Given the description of an element on the screen output the (x, y) to click on. 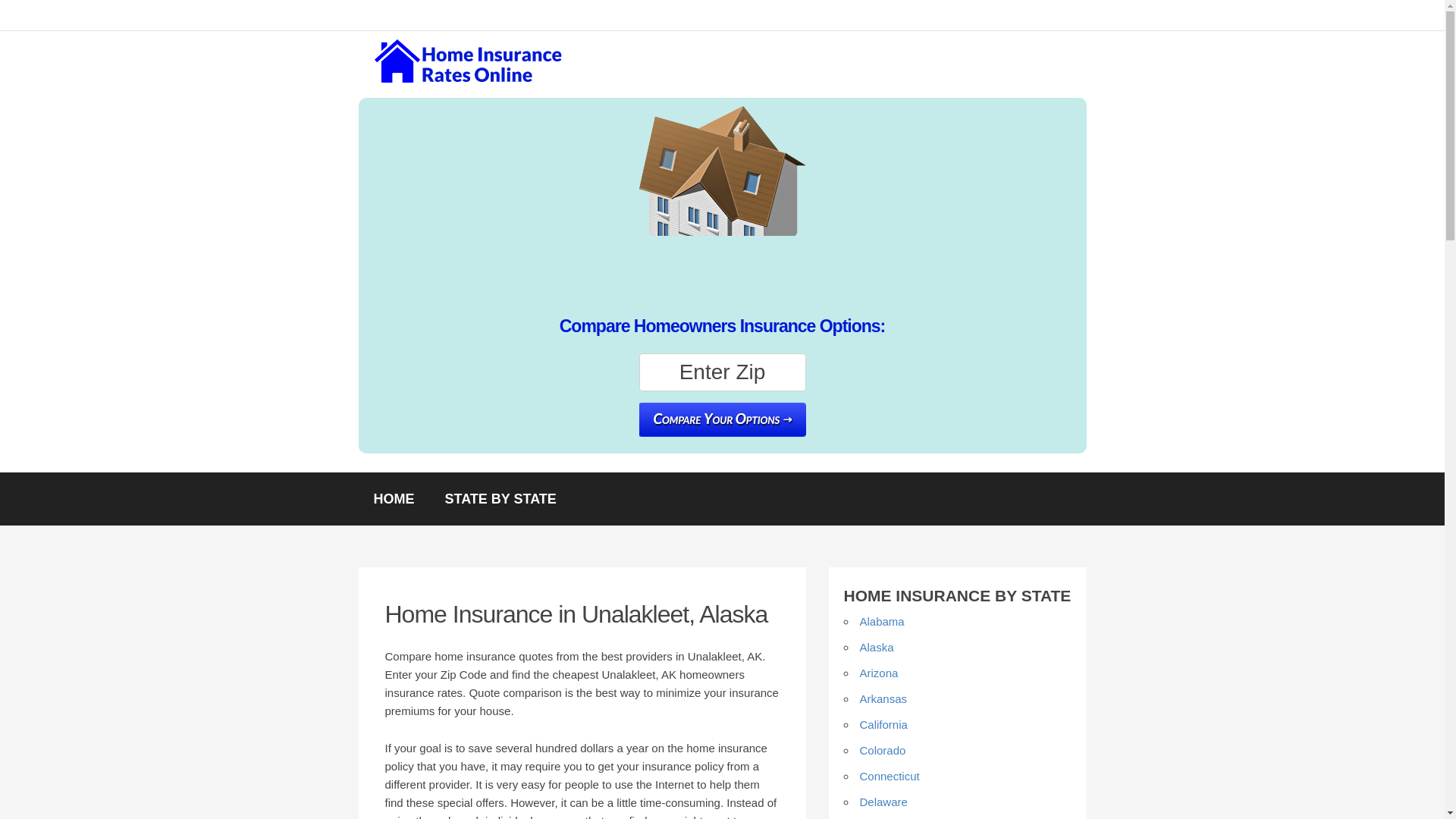
Arizona (879, 672)
STATE BY STATE (499, 498)
Enter Zip (722, 371)
Delaware (883, 801)
Alaska (876, 646)
Colorado (882, 749)
California (883, 724)
Arkansas (883, 698)
HOME (393, 498)
Connecticut (890, 775)
